Given the description of an element on the screen output the (x, y) to click on. 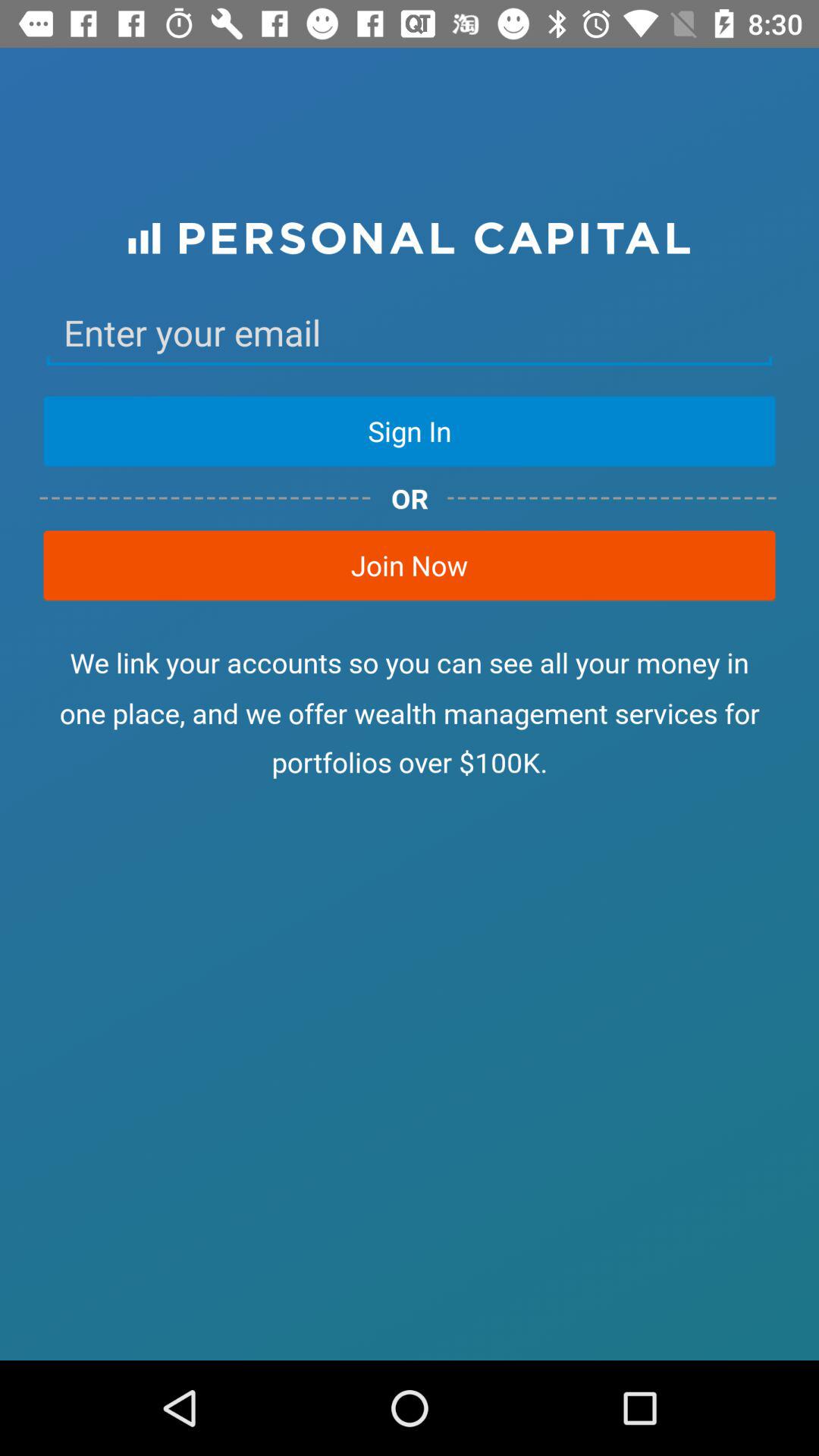
flip to the sign in (409, 430)
